Given the description of an element on the screen output the (x, y) to click on. 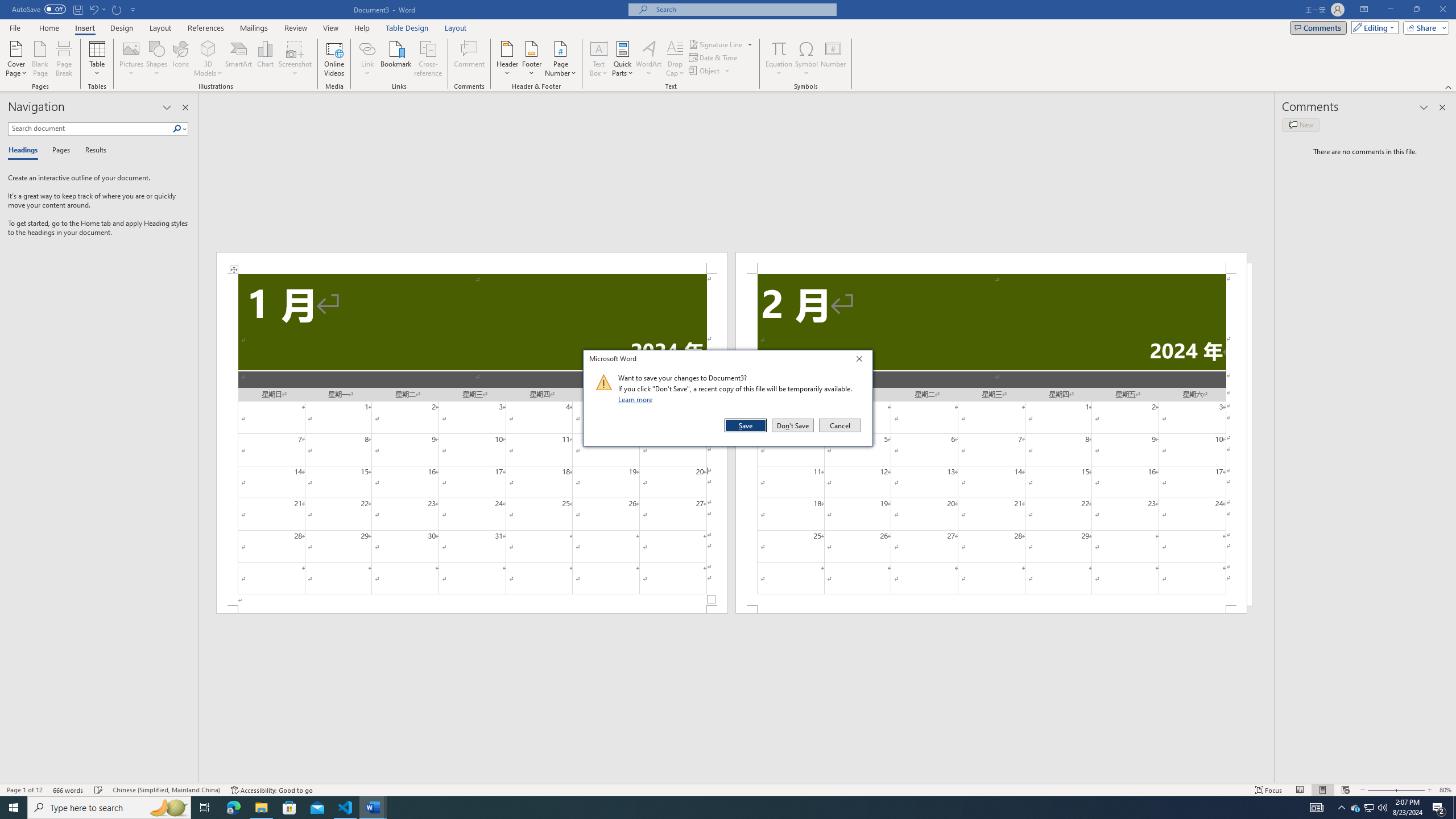
Date & Time... (714, 56)
3D Models (208, 48)
Link (367, 58)
Text Box (598, 58)
Blank Page (40, 58)
